Given the description of an element on the screen output the (x, y) to click on. 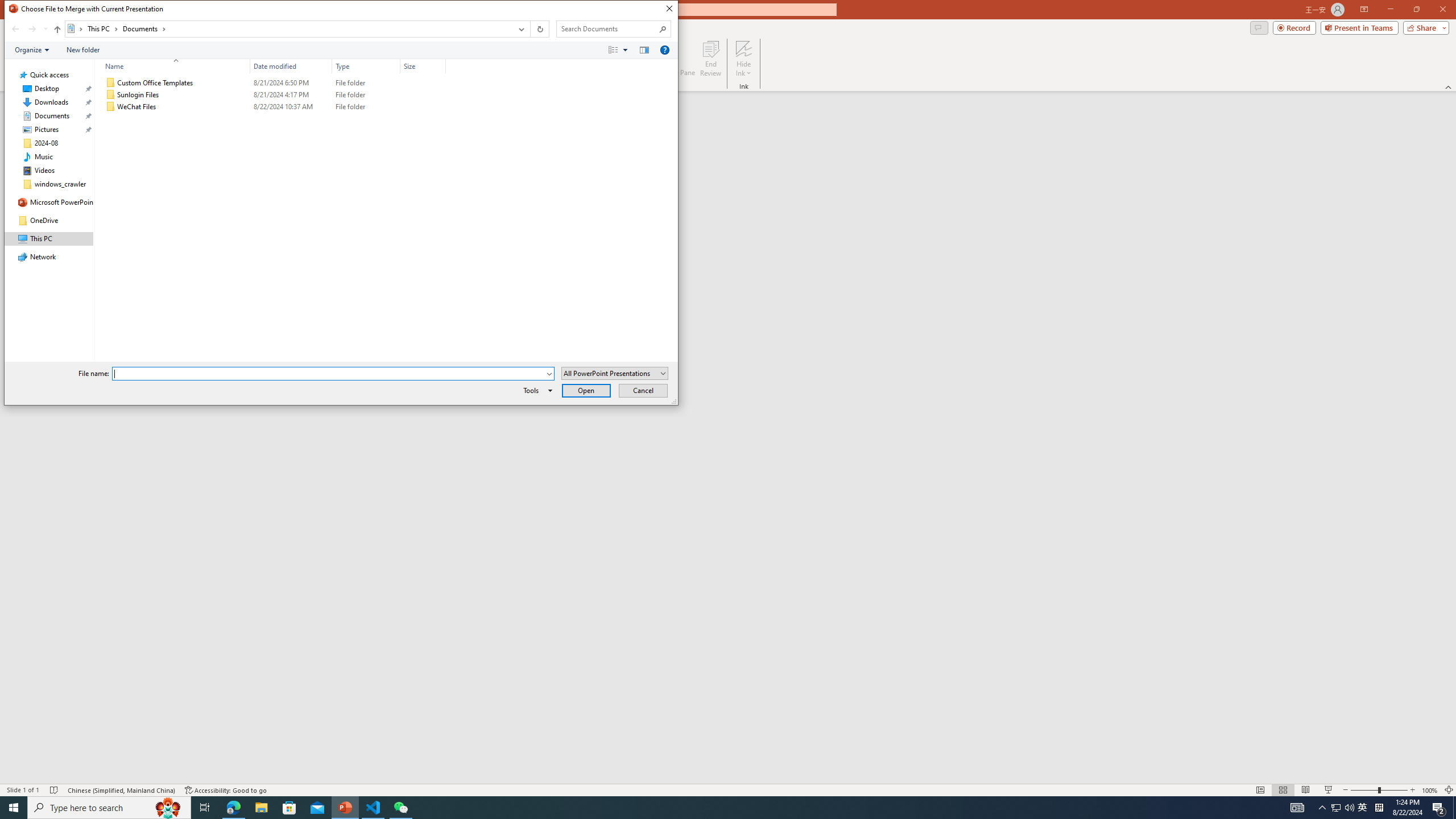
Address: Documents (288, 28)
Type (365, 65)
File name: (333, 373)
Files of type: (615, 373)
This PC (102, 28)
Type (365, 106)
Running applications (707, 807)
Refresh "Documents" (F5) (538, 28)
Command Module (341, 49)
Custom Office Templates (273, 82)
Navigation buttons (28, 28)
